Given the description of an element on the screen output the (x, y) to click on. 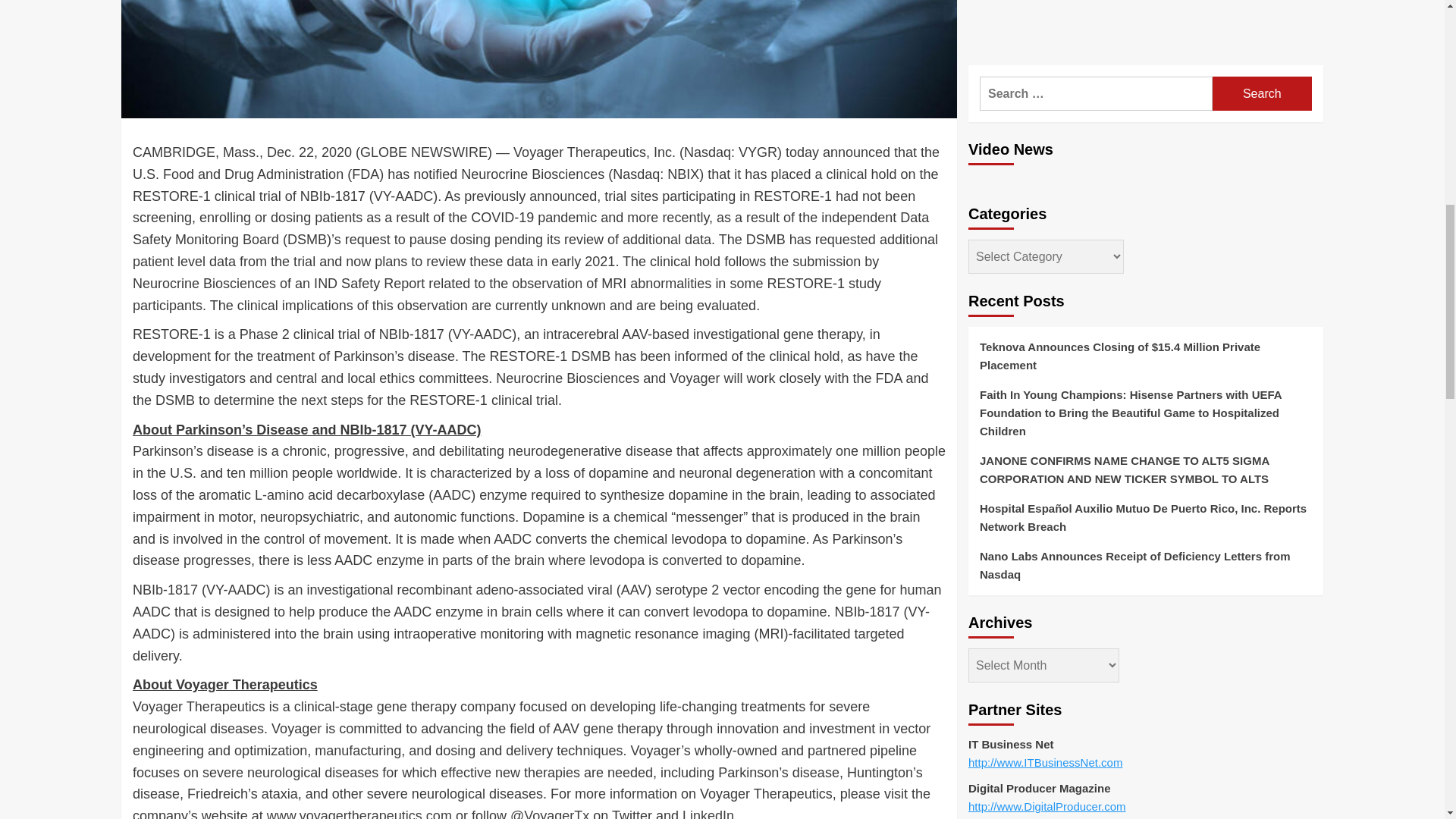
LinkedIn (707, 813)
www.voyagertherapeutics.com (358, 813)
LinkedIn (707, 813)
www.voyagertherapeutics.com (358, 813)
